Given the description of an element on the screen output the (x, y) to click on. 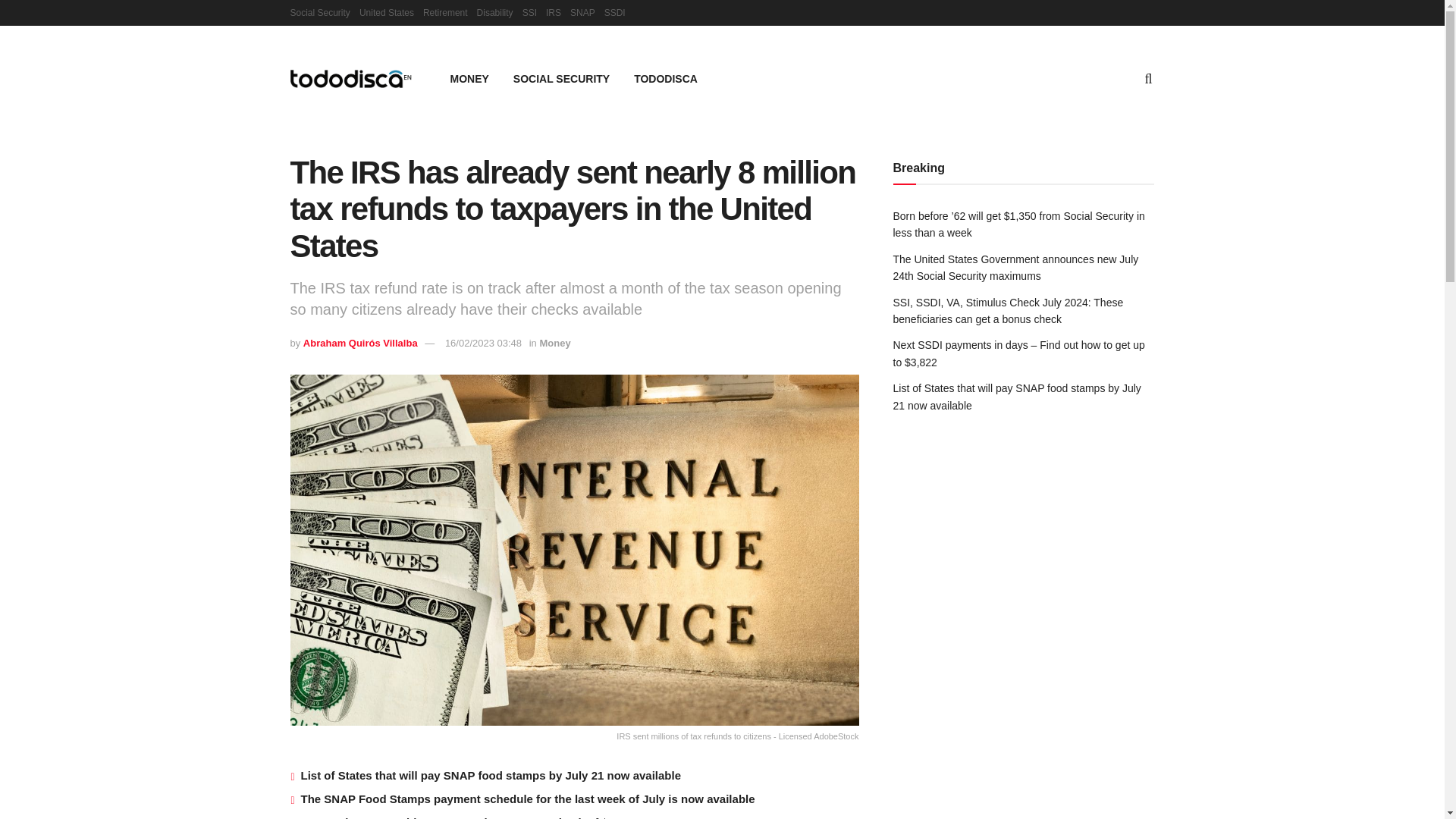
TODODISCA (665, 78)
SNAP (582, 12)
United States (386, 12)
Retirement (445, 12)
Social Security (319, 12)
Disability (495, 12)
Money (554, 342)
MONEY (469, 78)
SOCIAL SECURITY (560, 78)
